Given the description of an element on the screen output the (x, y) to click on. 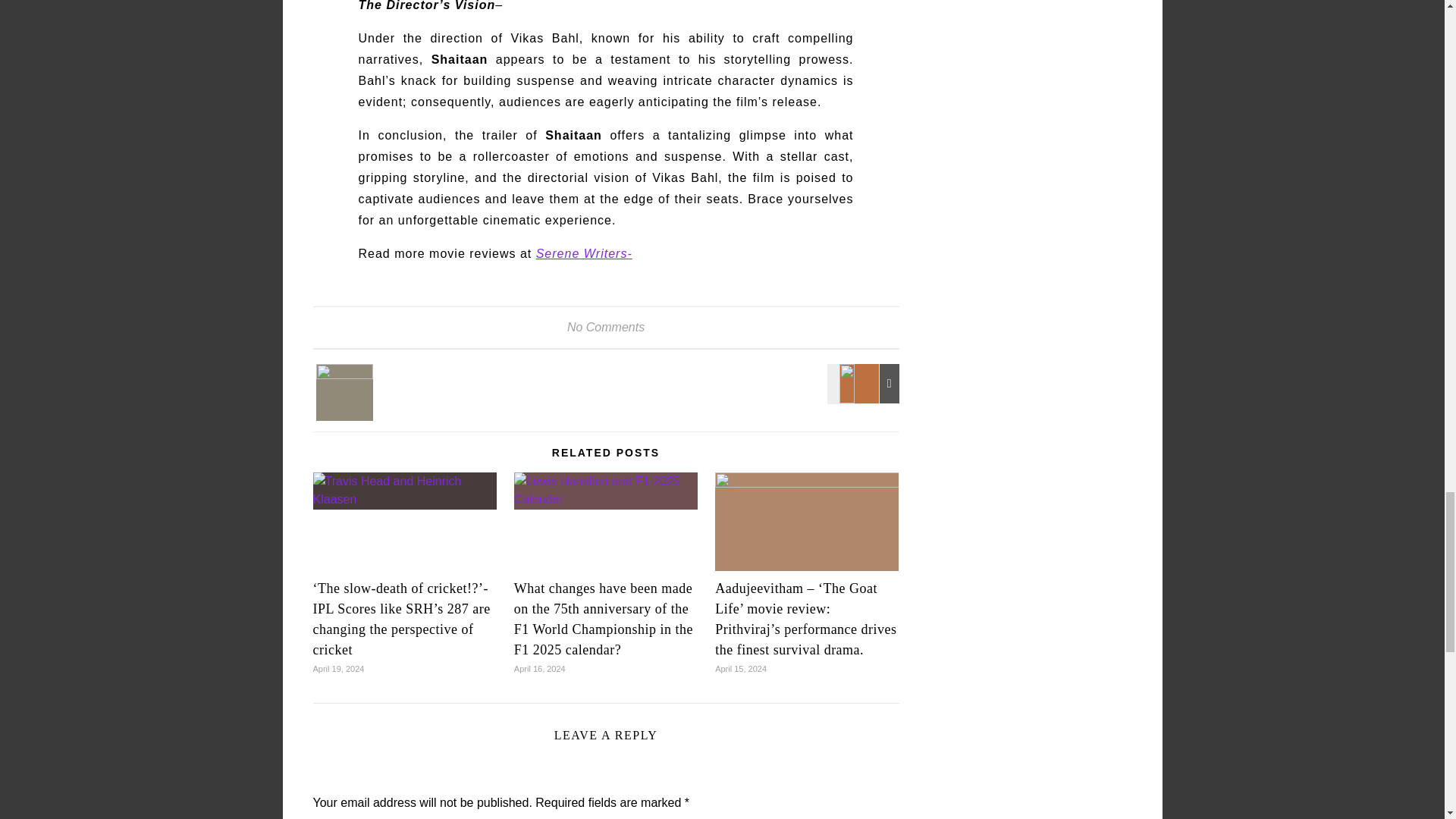
Serene Writers- (583, 253)
Dashmi - A Vigilante Thriller Unraveling Justice. (865, 383)
No Comments (606, 327)
Amaran: Following criticisms in Sivakarthikeyan's Film. (346, 391)
